Given the description of an element on the screen output the (x, y) to click on. 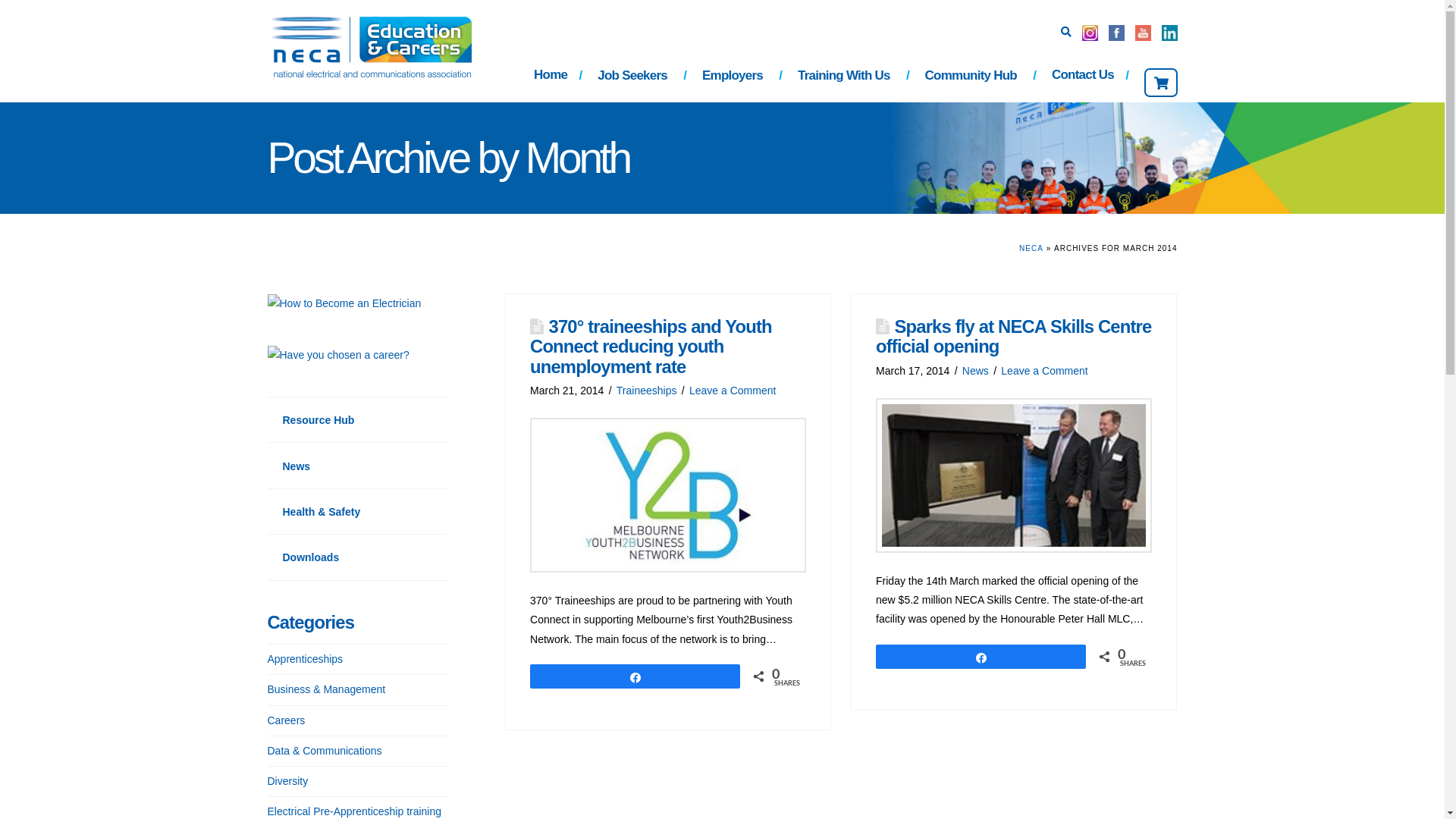
NECA Element type: text (1031, 248)
Health & Safety Element type: text (356, 511)
News Element type: text (975, 370)
Apprenticeships Element type: text (304, 659)
Employers Element type: text (734, 77)
Training With Us Element type: text (846, 77)
Contact Us Element type: text (1082, 77)
Job Seekers Element type: text (634, 77)
Resource Hub Element type: text (356, 419)
Leave a Comment Element type: text (732, 390)
Community Hub Element type: text (973, 77)
Traineeships Element type: text (646, 390)
Sparks fly at NECA Skills Centre official opening Element type: text (1013, 336)
Diversity Element type: text (286, 781)
News Element type: text (356, 464)
Downloads Element type: text (356, 556)
Leave a Comment Element type: text (1044, 370)
Careers Element type: text (285, 720)
Home Element type: text (550, 77)
Data & Communications Element type: text (323, 751)
Business & Management Element type: text (325, 689)
